Given the description of an element on the screen output the (x, y) to click on. 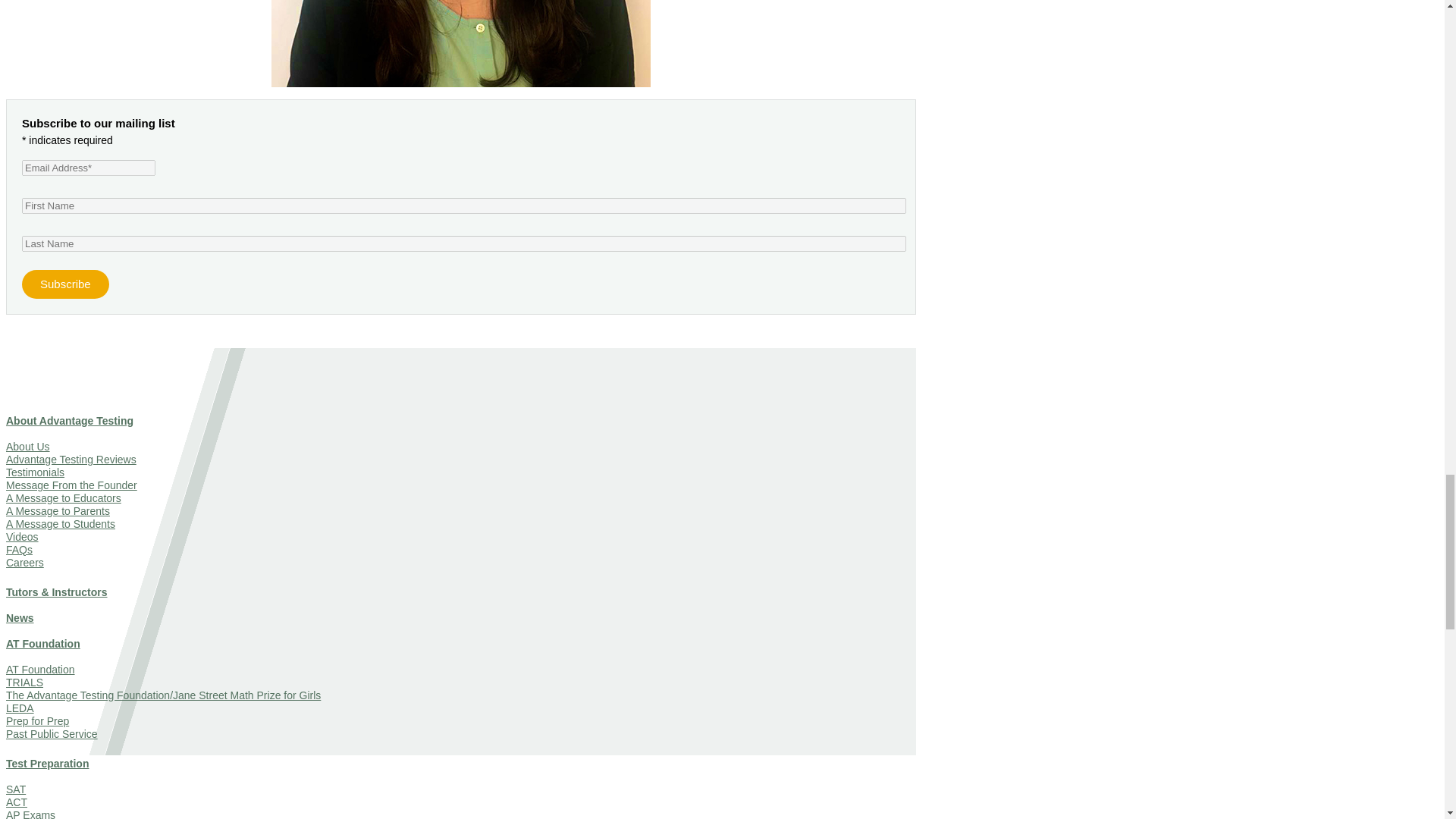
Subscribe (65, 284)
